Given the description of an element on the screen output the (x, y) to click on. 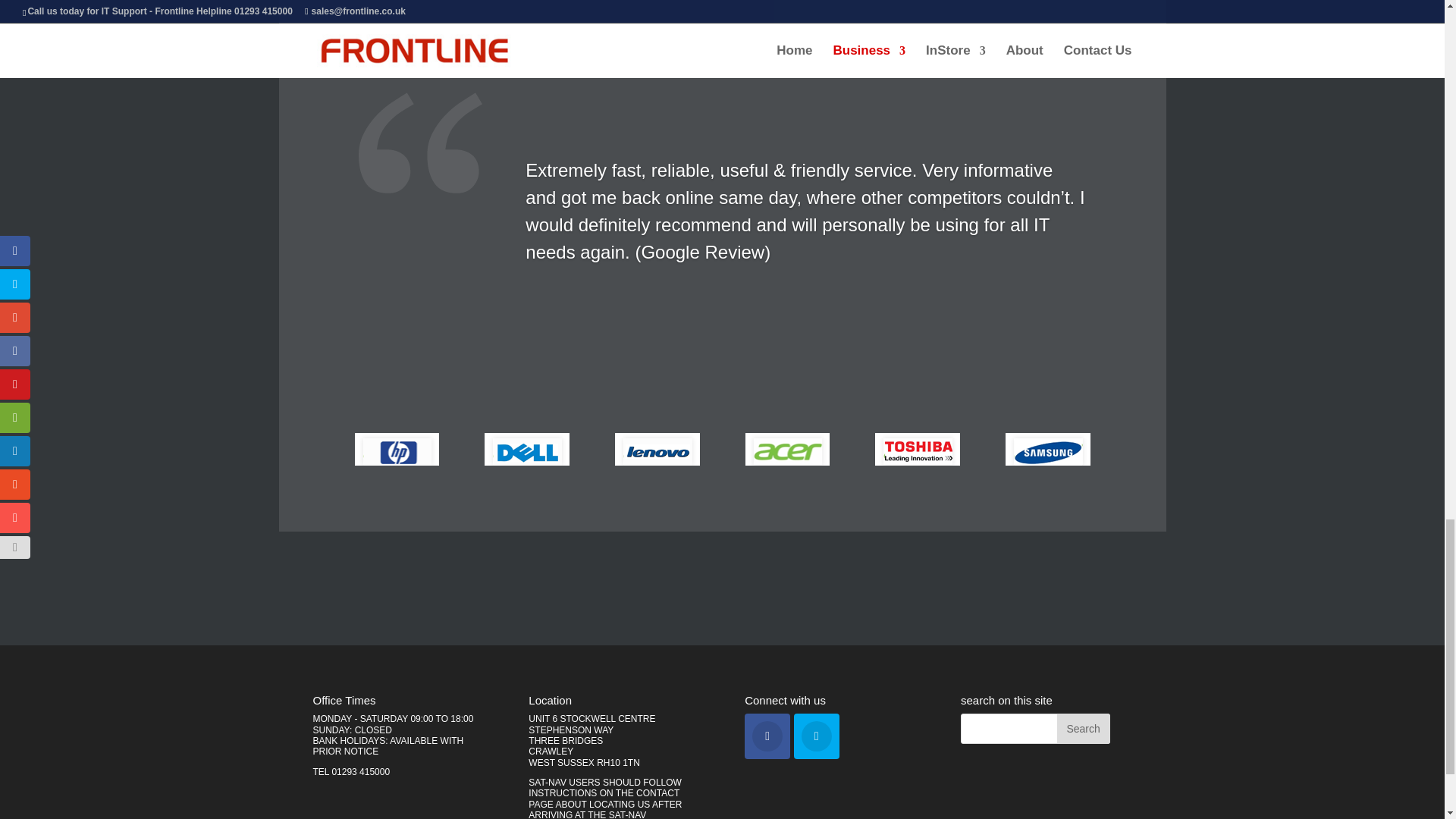
Search (1083, 728)
acer (787, 449)
lenovo (657, 449)
hp (397, 449)
samsung (1048, 449)
toshiba (917, 449)
dell (526, 449)
